Given the description of an element on the screen output the (x, y) to click on. 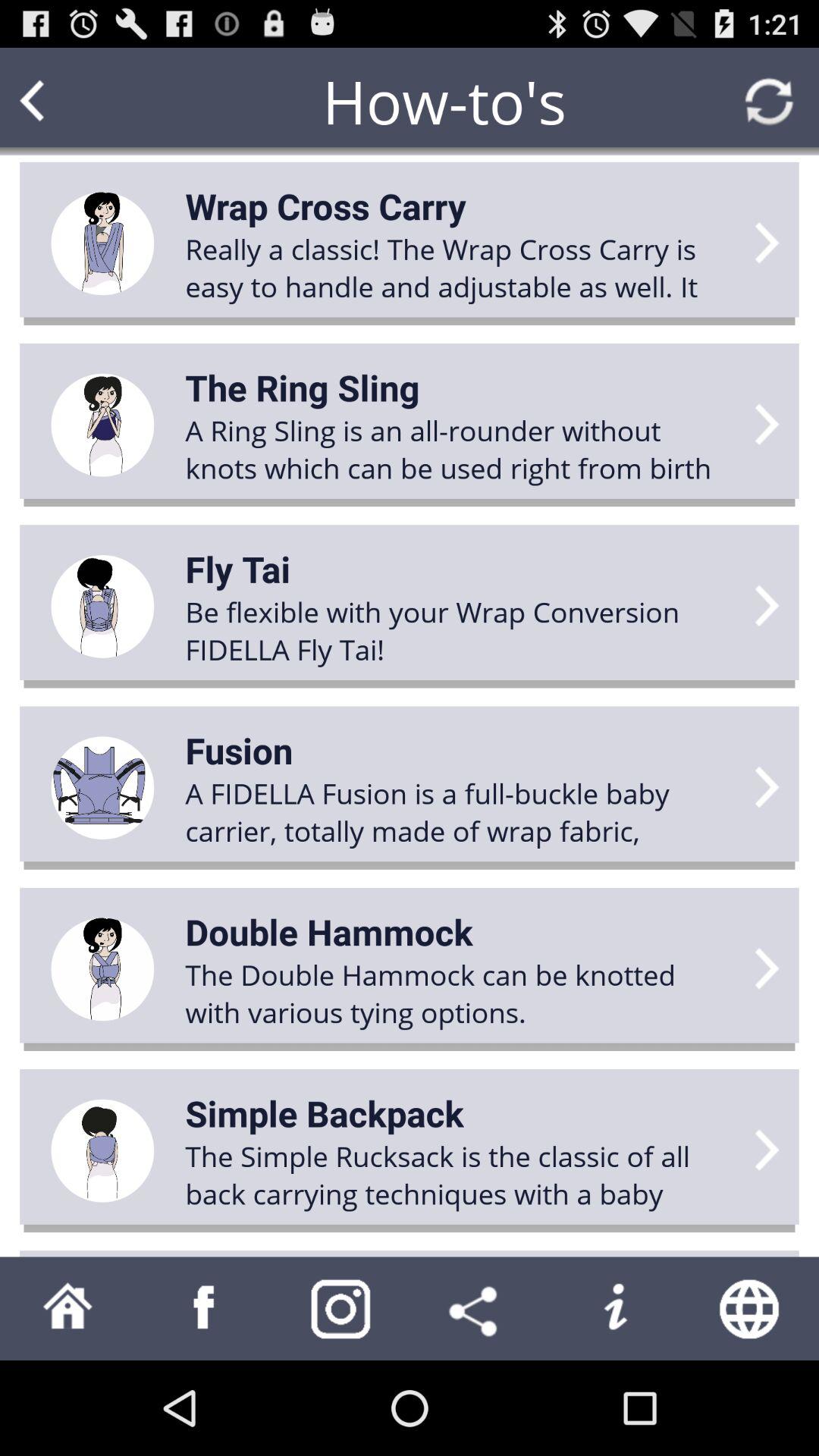
launch the icon below the the simple rucksack (341, 1308)
